Given the description of an element on the screen output the (x, y) to click on. 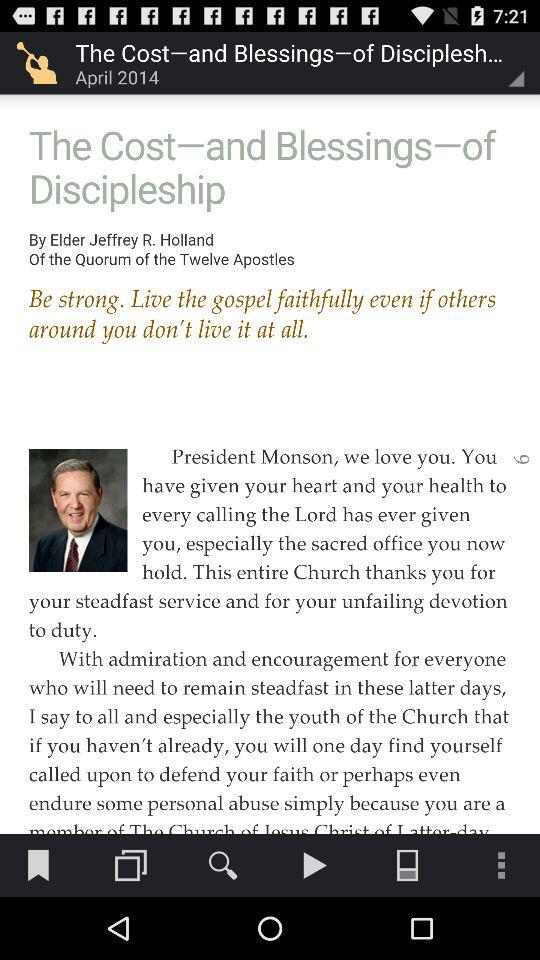
whole article (269, 416)
